Given the description of an element on the screen output the (x, y) to click on. 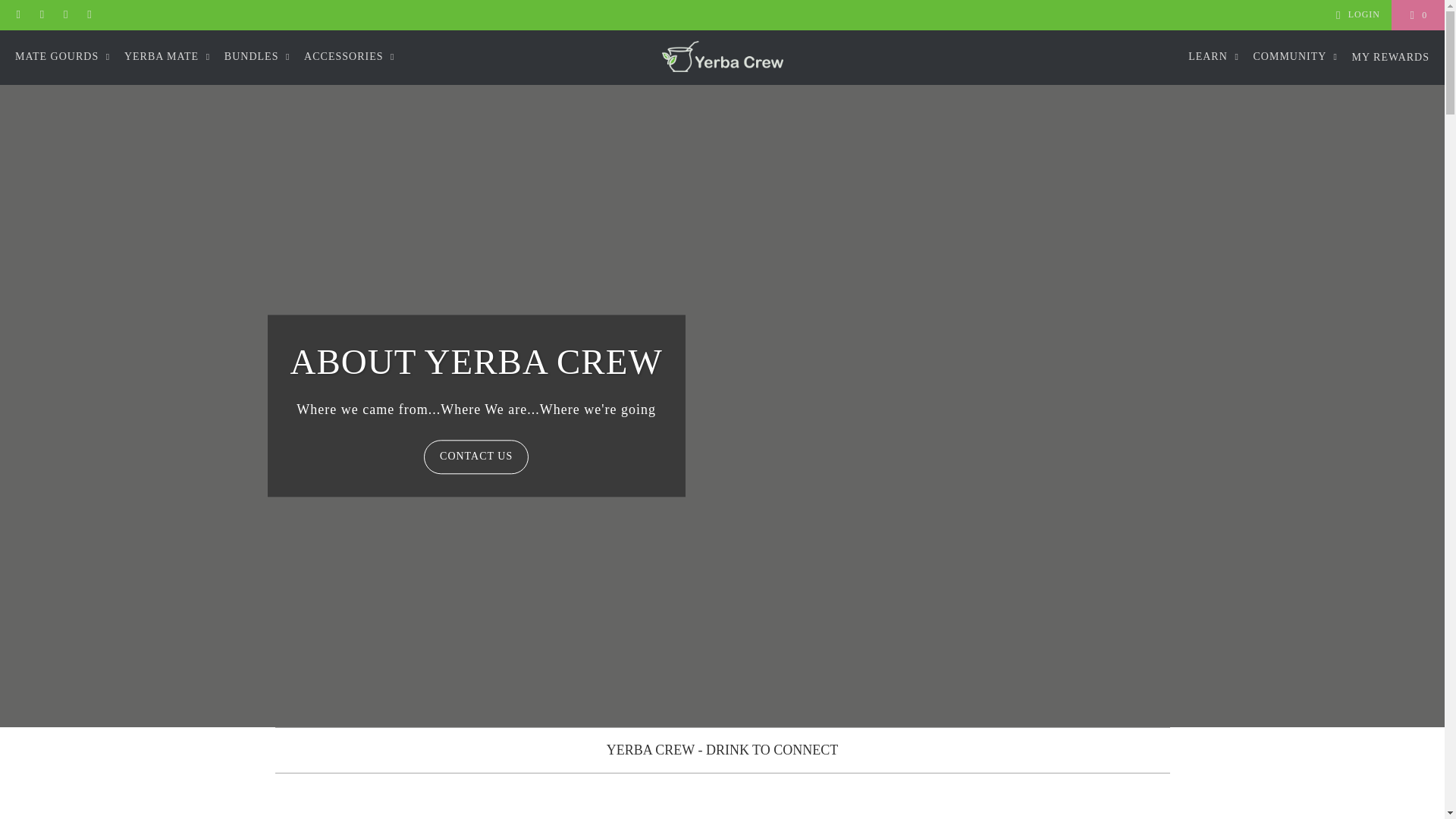
Email Yerba Crew (17, 14)
Yerba Crew (722, 57)
Yerba Crew on Facebook (41, 14)
Connect to Yourself (494, 796)
Yerba Crew on Instagram (65, 14)
Yerba Crew on YouTube (89, 14)
My Account  (1355, 14)
